Given the description of an element on the screen output the (x, y) to click on. 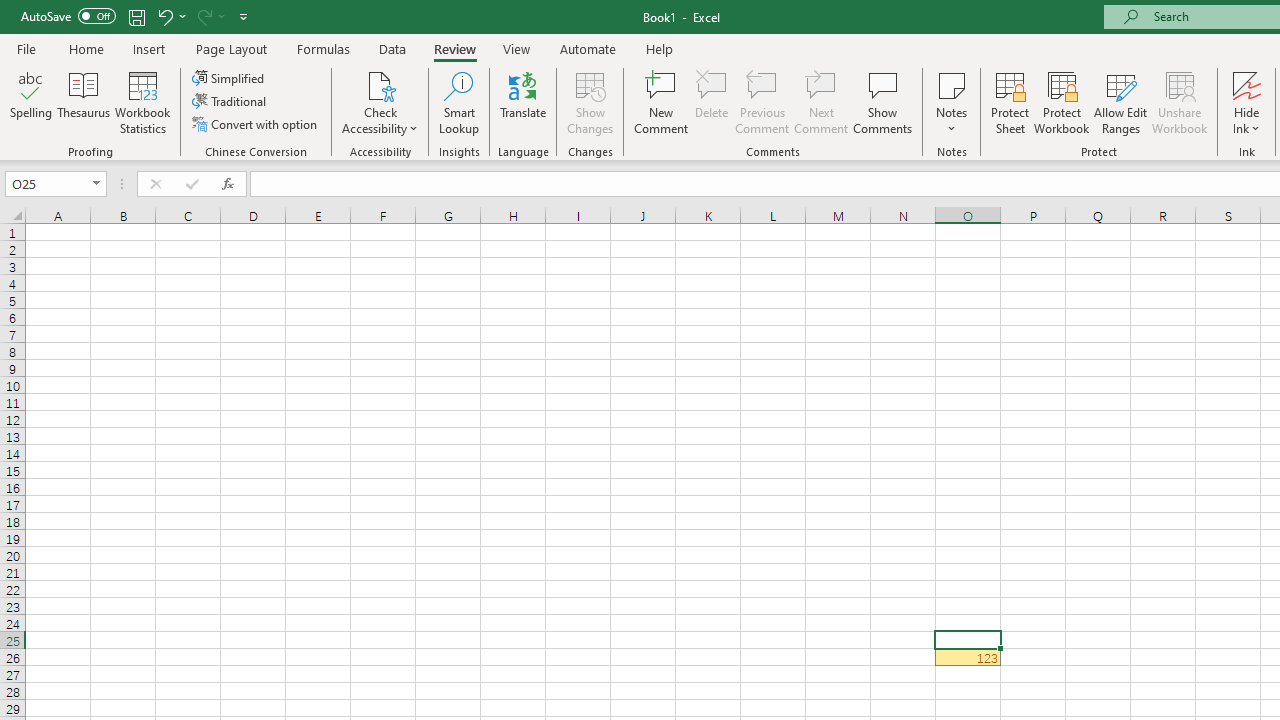
Show Comments (883, 102)
Spelling... (31, 102)
Previous Comment (762, 102)
Translate (523, 102)
Thesaurus... (83, 102)
Simplified (230, 78)
